Given the description of an element on the screen output the (x, y) to click on. 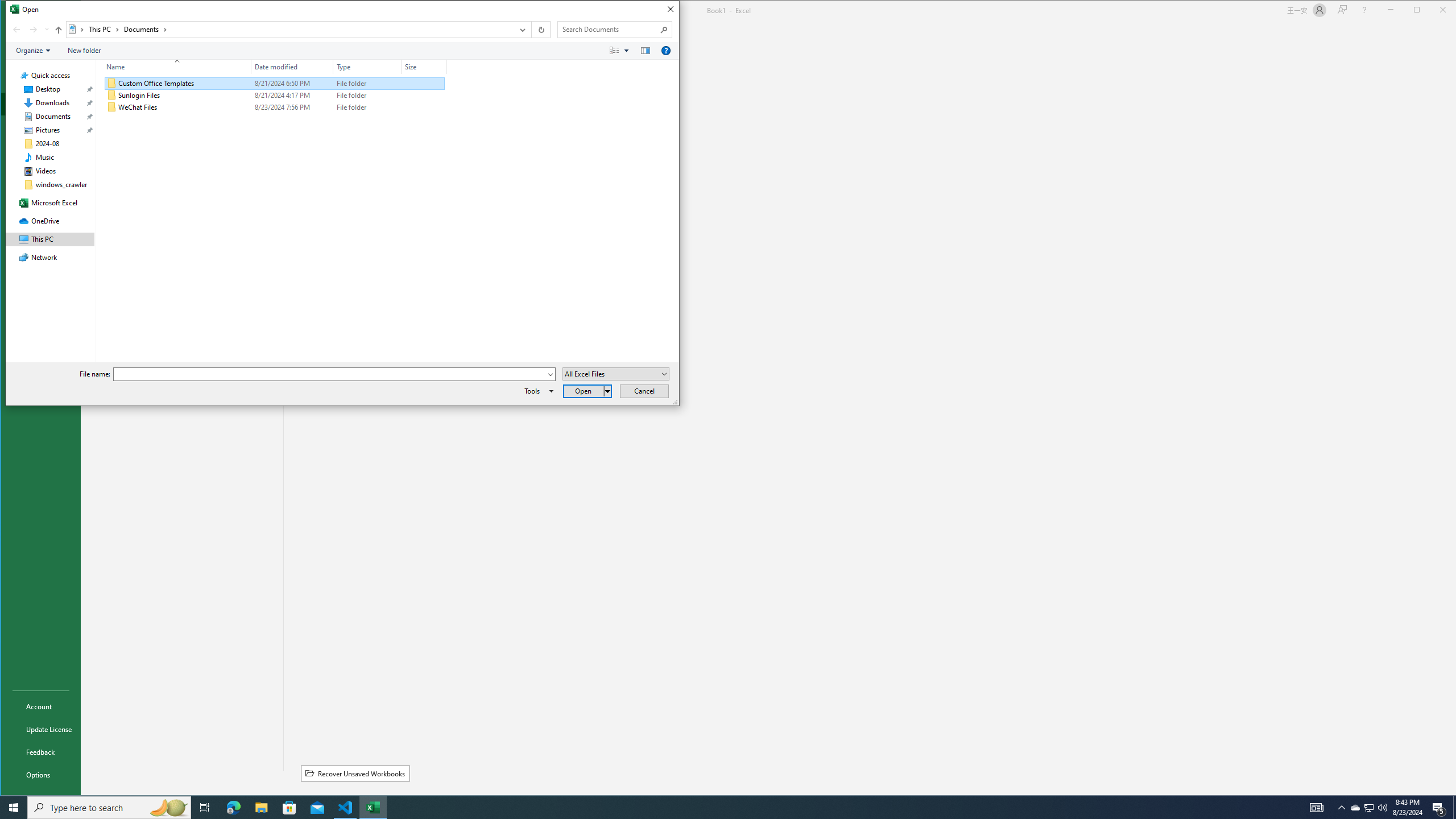
&Help (666, 50)
Size (423, 66)
Search highlights icon opens search home window (167, 807)
User Promoted Notification Area (1368, 807)
Documents (145, 29)
Command Module (341, 50)
Maximize (1432, 11)
AutomationID: 4105 (1316, 807)
WeChat Files (274, 107)
All locations (75, 29)
File Explorer (261, 807)
